Given the description of an element on the screen output the (x, y) to click on. 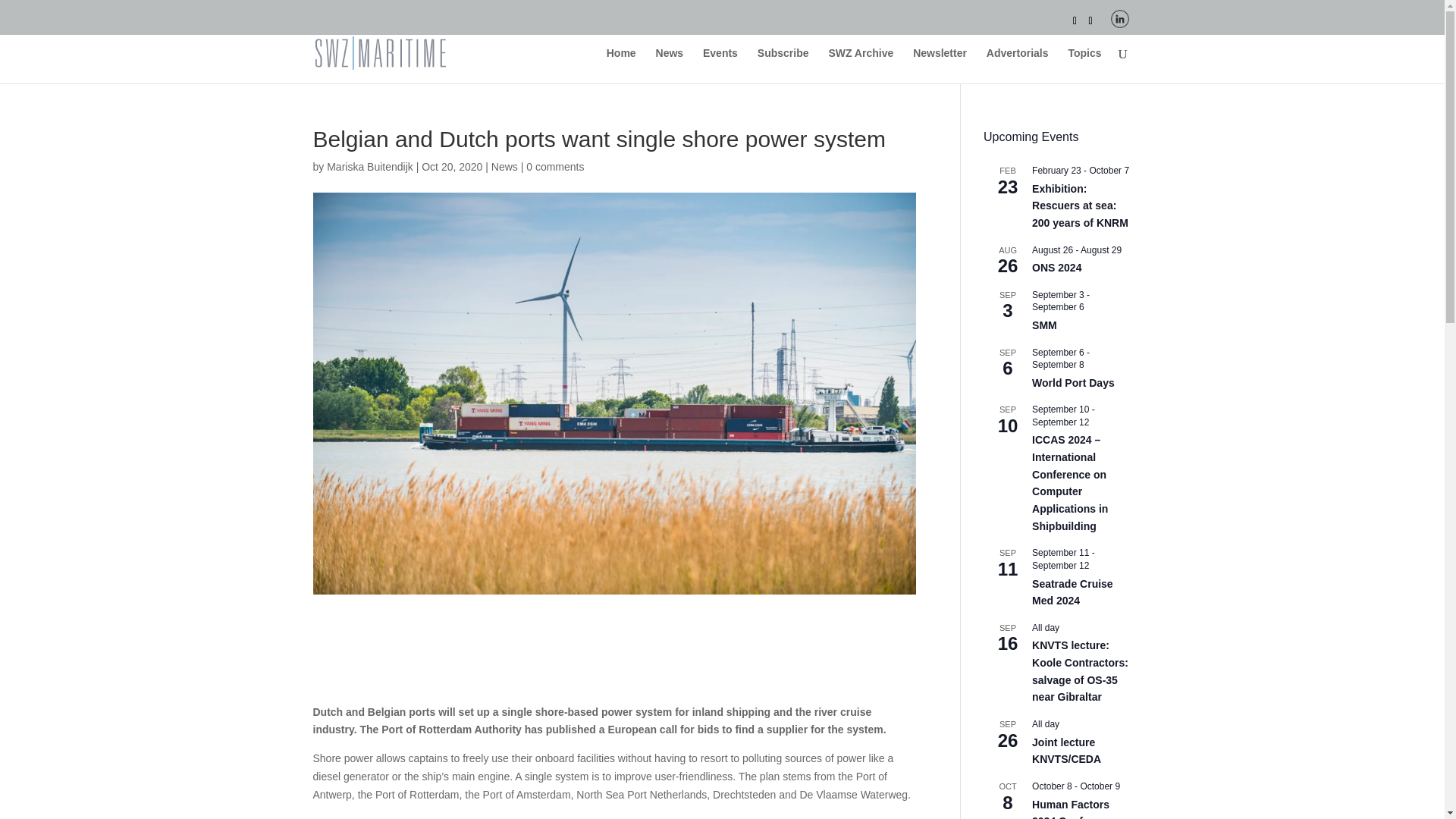
World Port Days (1073, 382)
Mariska Buitendijk (369, 166)
Subscribe (783, 65)
ONS 2024 (1056, 267)
SMM (1044, 325)
Seatrade Cruise Med 2024 (1072, 593)
Advertorials (1017, 65)
Human Factors 2024 Conference (1074, 808)
Posts by Mariska Buitendijk (369, 166)
ONS 2024 (1056, 267)
